Given the description of an element on the screen output the (x, y) to click on. 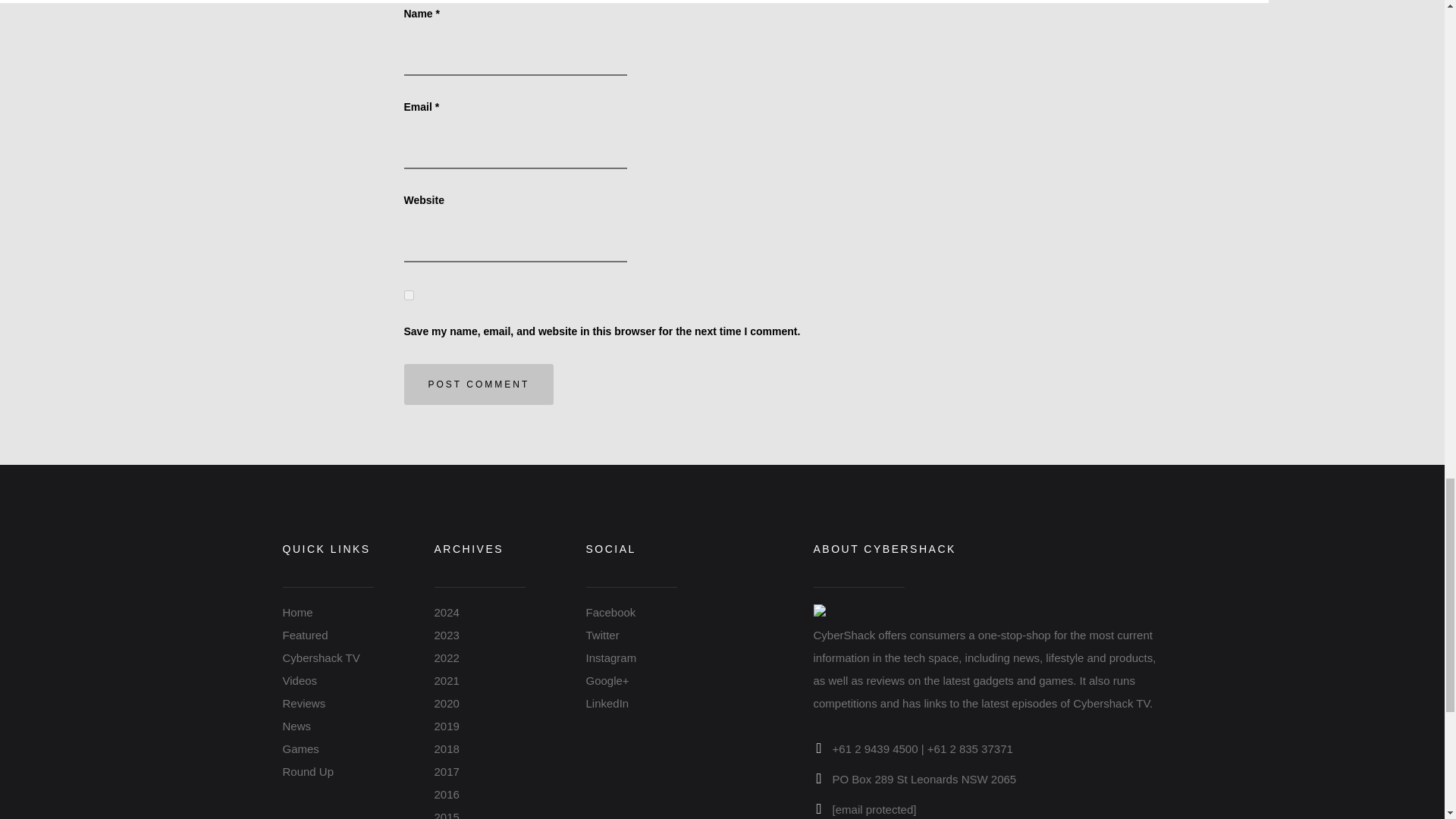
Post Comment (478, 383)
Featured (304, 634)
Reviews (303, 703)
yes (408, 295)
Games (300, 748)
Cybershack TV (320, 657)
Post Comment (478, 383)
Home (297, 612)
Videos (299, 680)
News (296, 725)
